Given the description of an element on the screen output the (x, y) to click on. 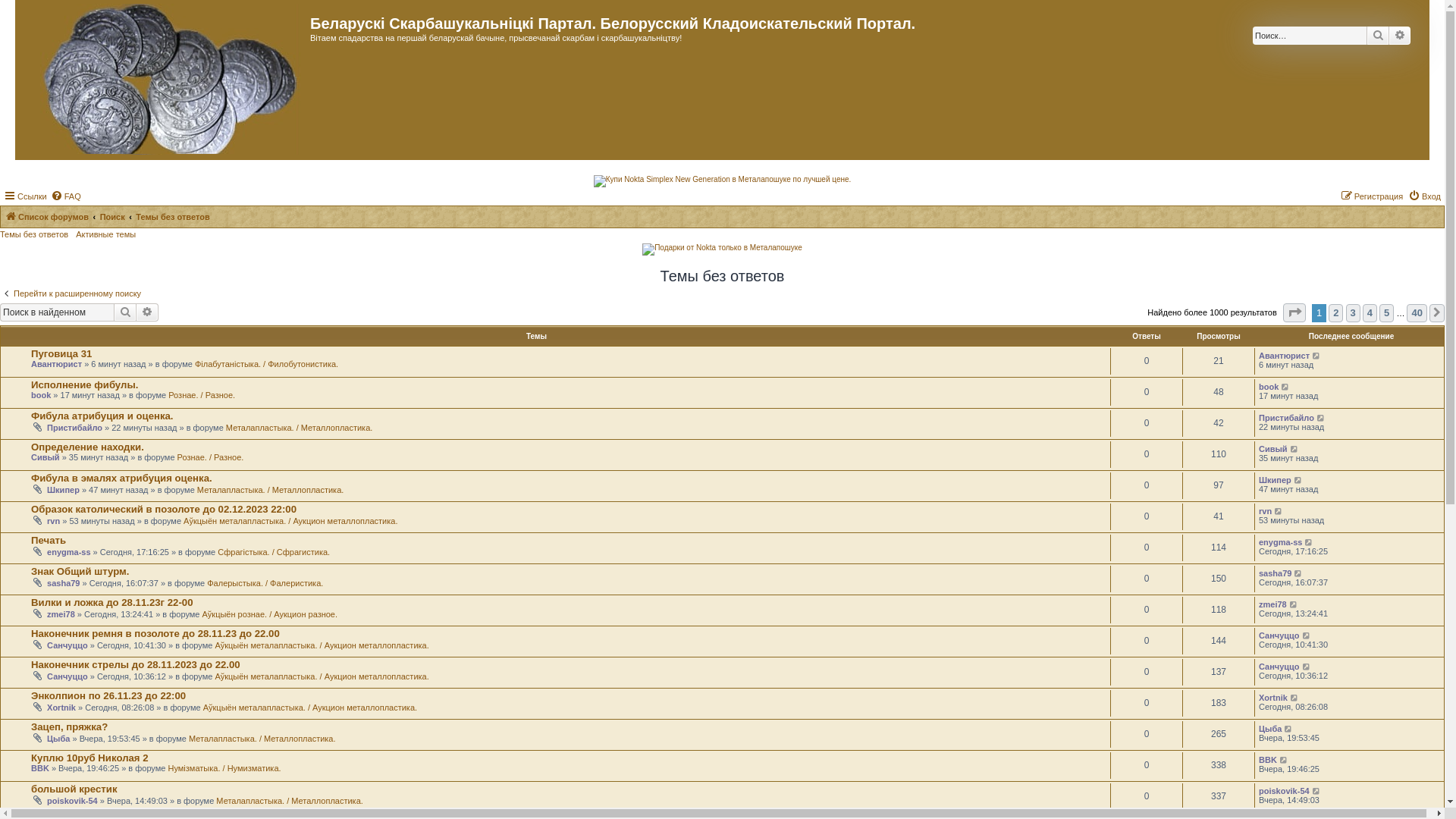
40 Element type: text (1416, 313)
rvn Element type: text (53, 520)
FAQ Element type: text (65, 196)
poiskovik-54 Element type: text (1283, 790)
book Element type: text (1268, 386)
Xortnik Element type: text (61, 707)
enygma-ss Element type: text (68, 551)
rvn Element type: text (1264, 510)
BBK Element type: text (1267, 759)
5 Element type: text (1386, 313)
zmei78 Element type: text (1272, 603)
2 Element type: text (1335, 313)
4 Element type: text (1369, 313)
zmei78 Element type: text (61, 613)
sasha79 Element type: text (63, 582)
enygma-ss Element type: text (1280, 541)
BBK Element type: text (40, 767)
sasha79 Element type: text (1274, 572)
poiskovik-54 Element type: text (72, 800)
book Element type: text (40, 394)
Xortnik Element type: text (1272, 697)
3 Element type: text (1353, 313)
